Given the description of an element on the screen output the (x, y) to click on. 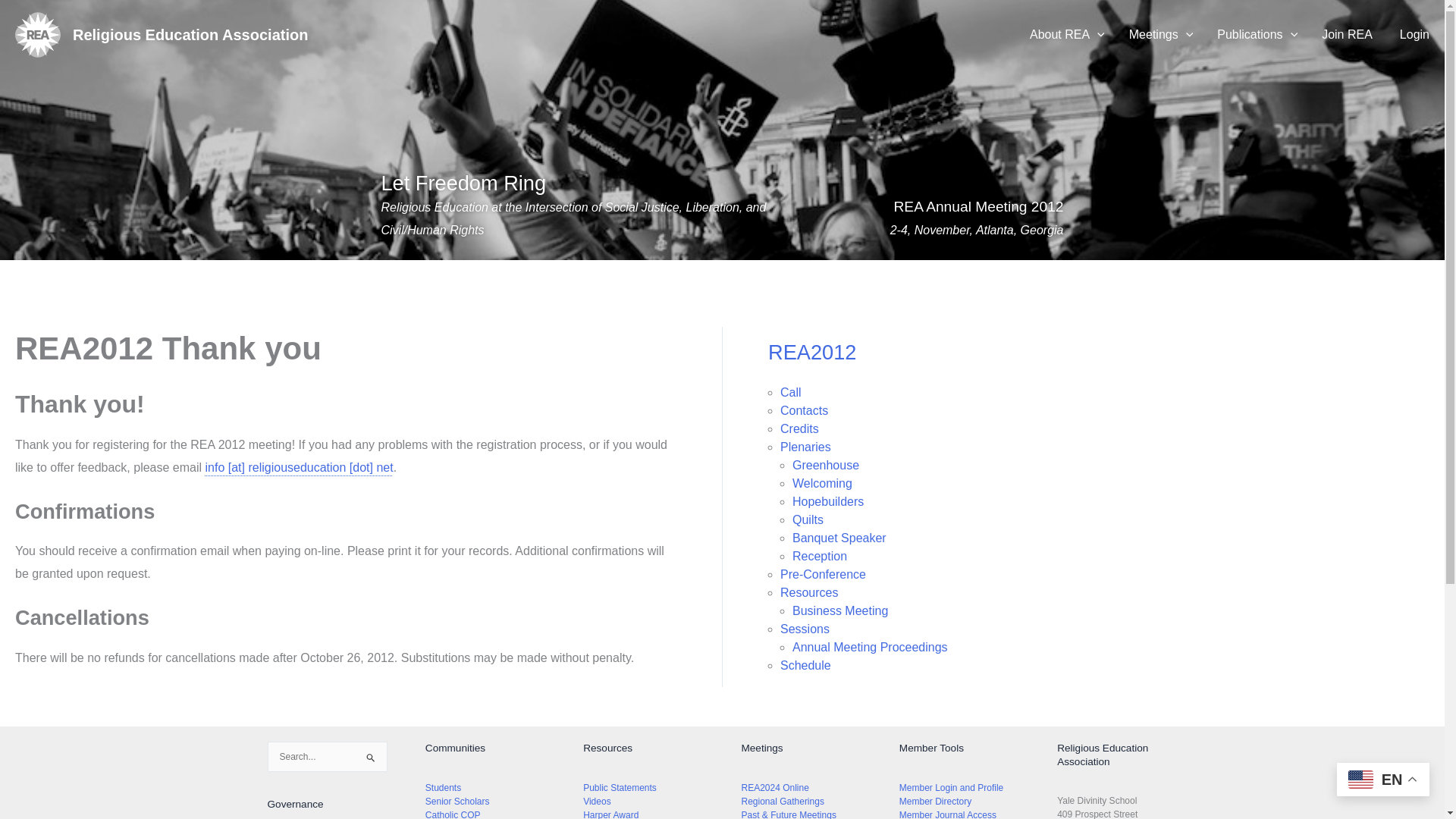
Religious Education Association (189, 34)
Join REA (1346, 34)
Search (370, 762)
Search (370, 762)
Meetings (1160, 34)
Publications (1256, 34)
About REA (1066, 34)
Login (1414, 34)
